Given the description of an element on the screen output the (x, y) to click on. 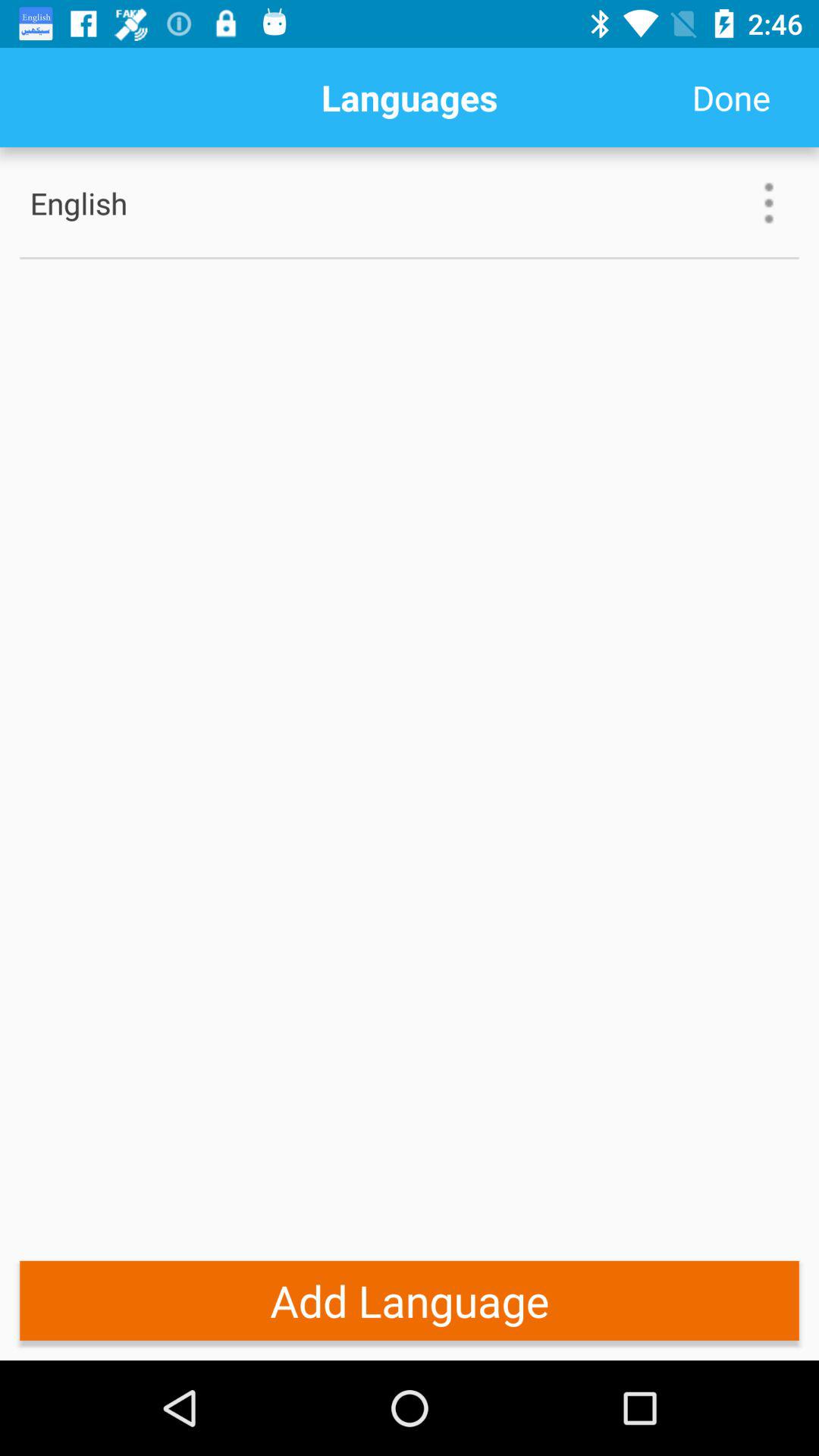
select done item (731, 97)
